Given the description of an element on the screen output the (x, y) to click on. 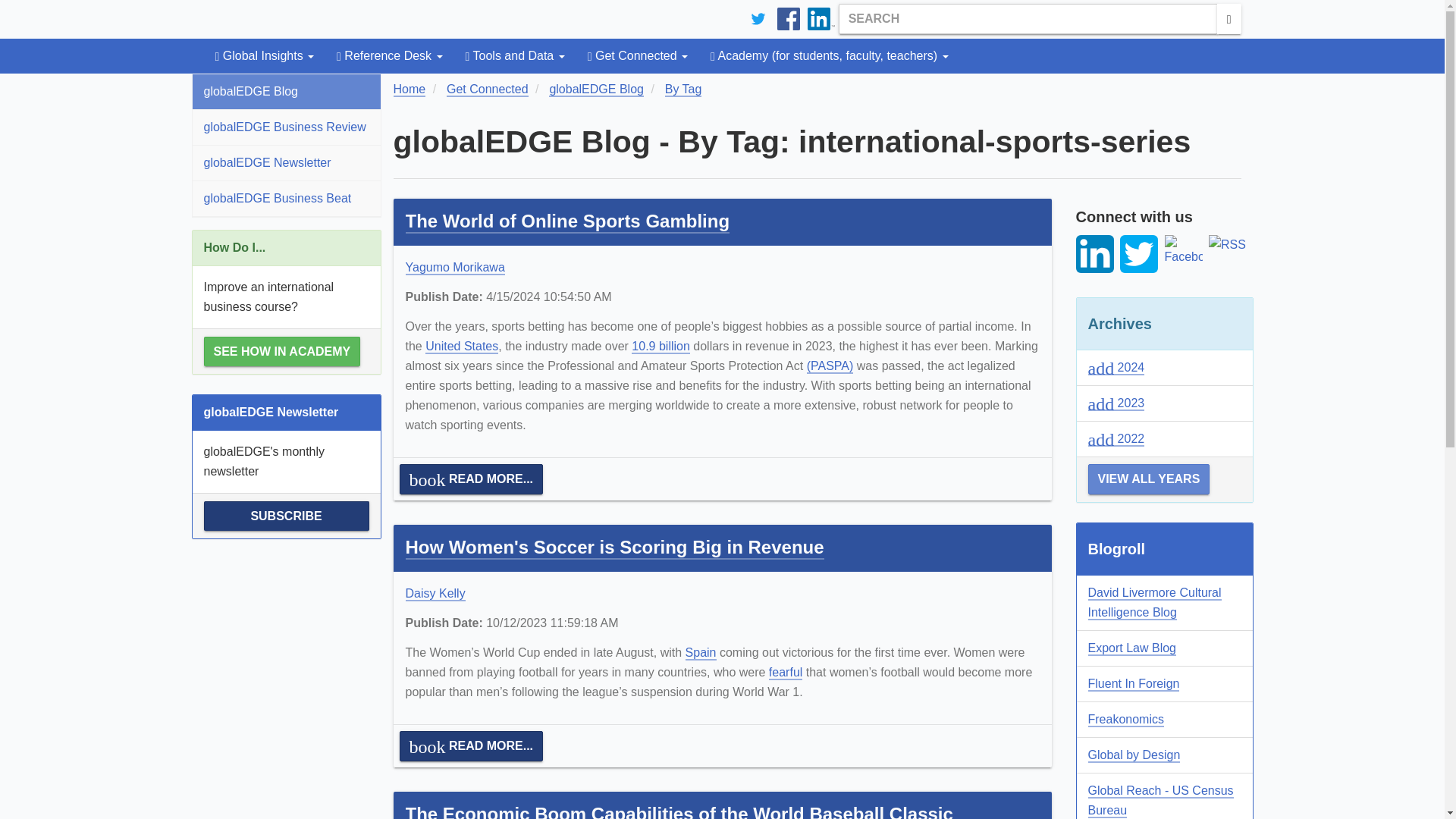
globalEDGE - Your source for business knowledge (316, 18)
Get Connected (637, 55)
Global Insights (263, 55)
Tools and Data (515, 55)
globalEDGE Business Beat (286, 198)
globalEDGE Blog (286, 91)
SEE HOW IN ACADEMY (281, 351)
globalEDGE Newsletter (286, 162)
globalEDGE Business Review (286, 126)
Reference Desk (388, 55)
